Given the description of an element on the screen output the (x, y) to click on. 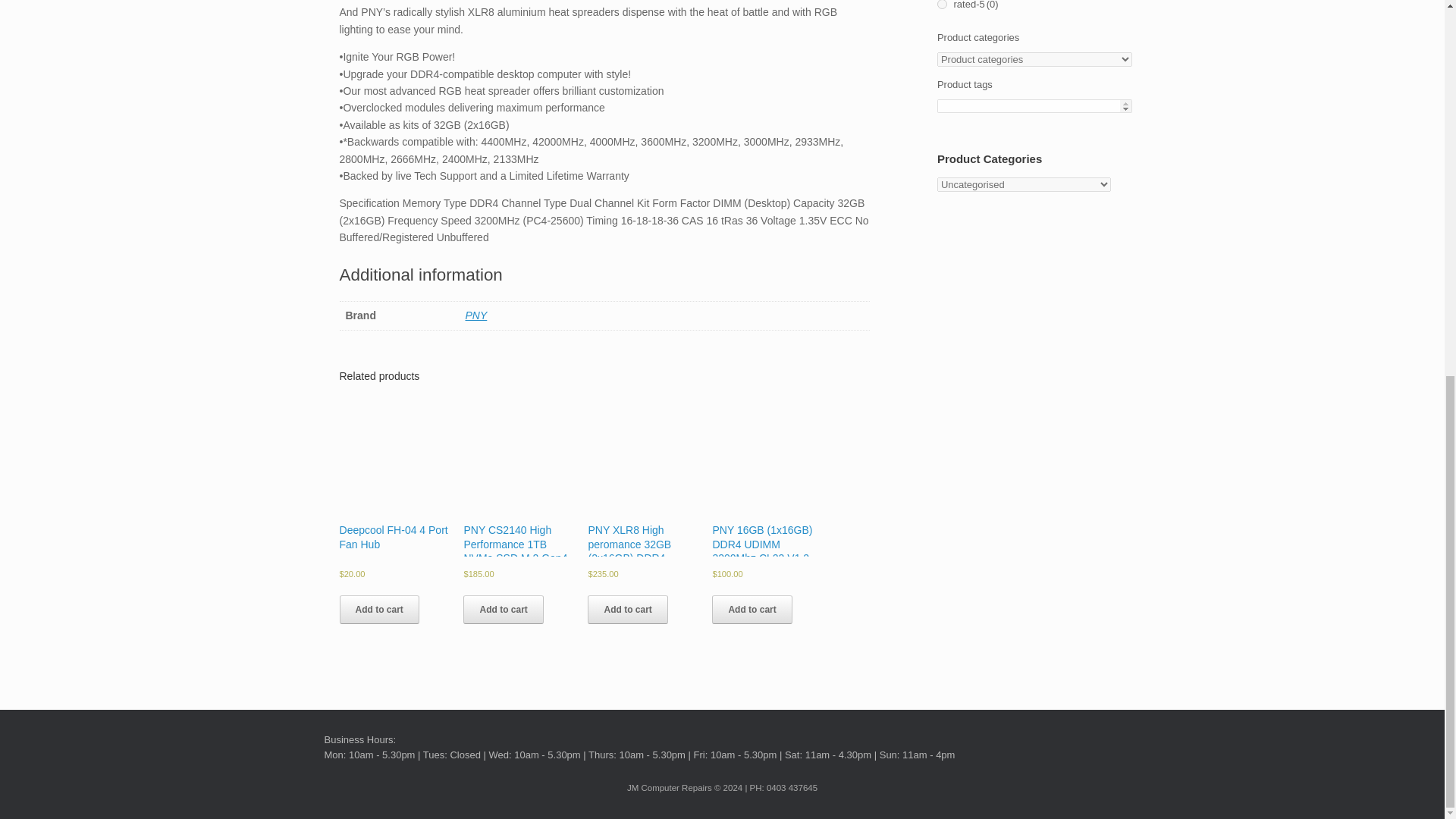
PNY (476, 315)
Add to cart (751, 609)
19 (942, 4)
Add to cart (503, 609)
Add to cart (627, 609)
Add to cart (379, 609)
